Given the description of an element on the screen output the (x, y) to click on. 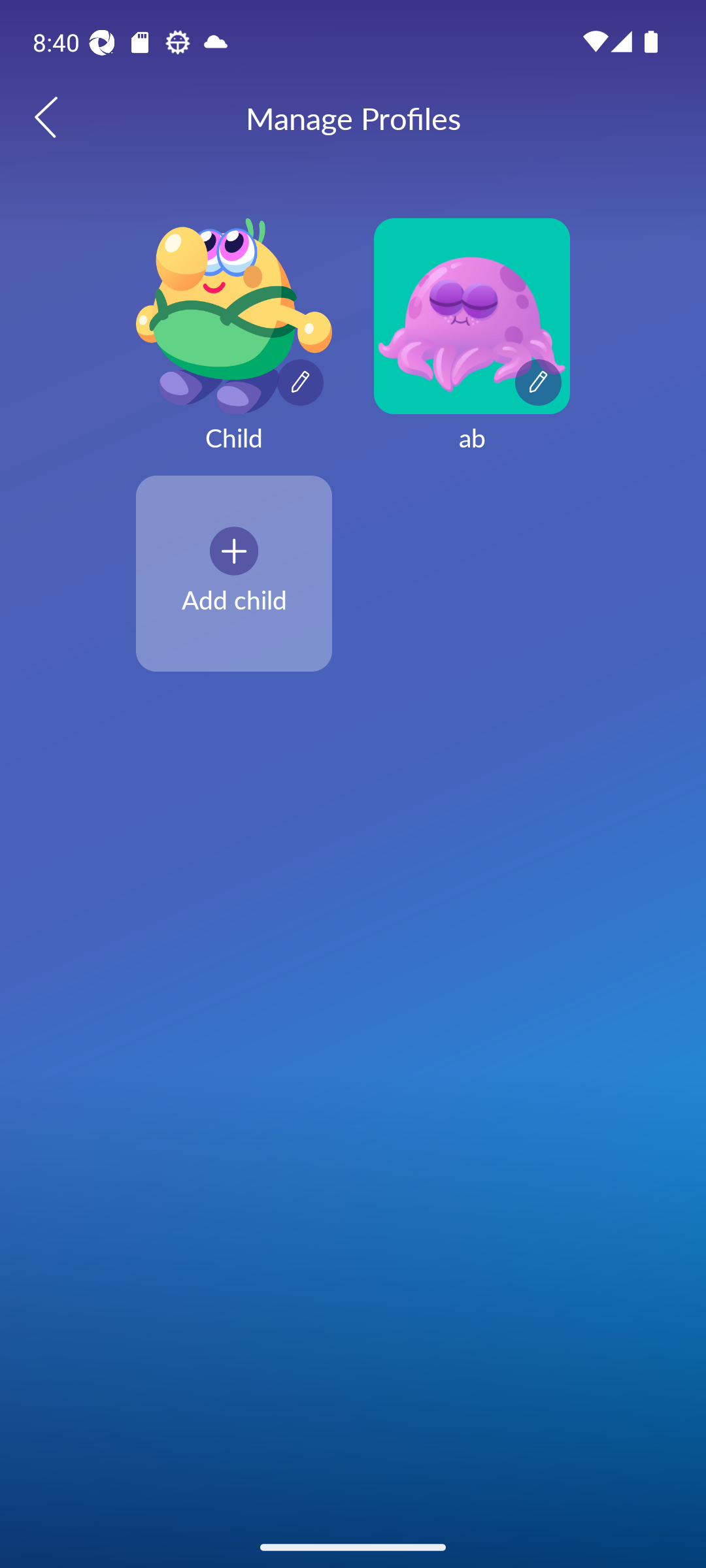
Child (233, 346)
ab (471, 346)
Add child (233, 573)
